Given the description of an element on the screen output the (x, y) to click on. 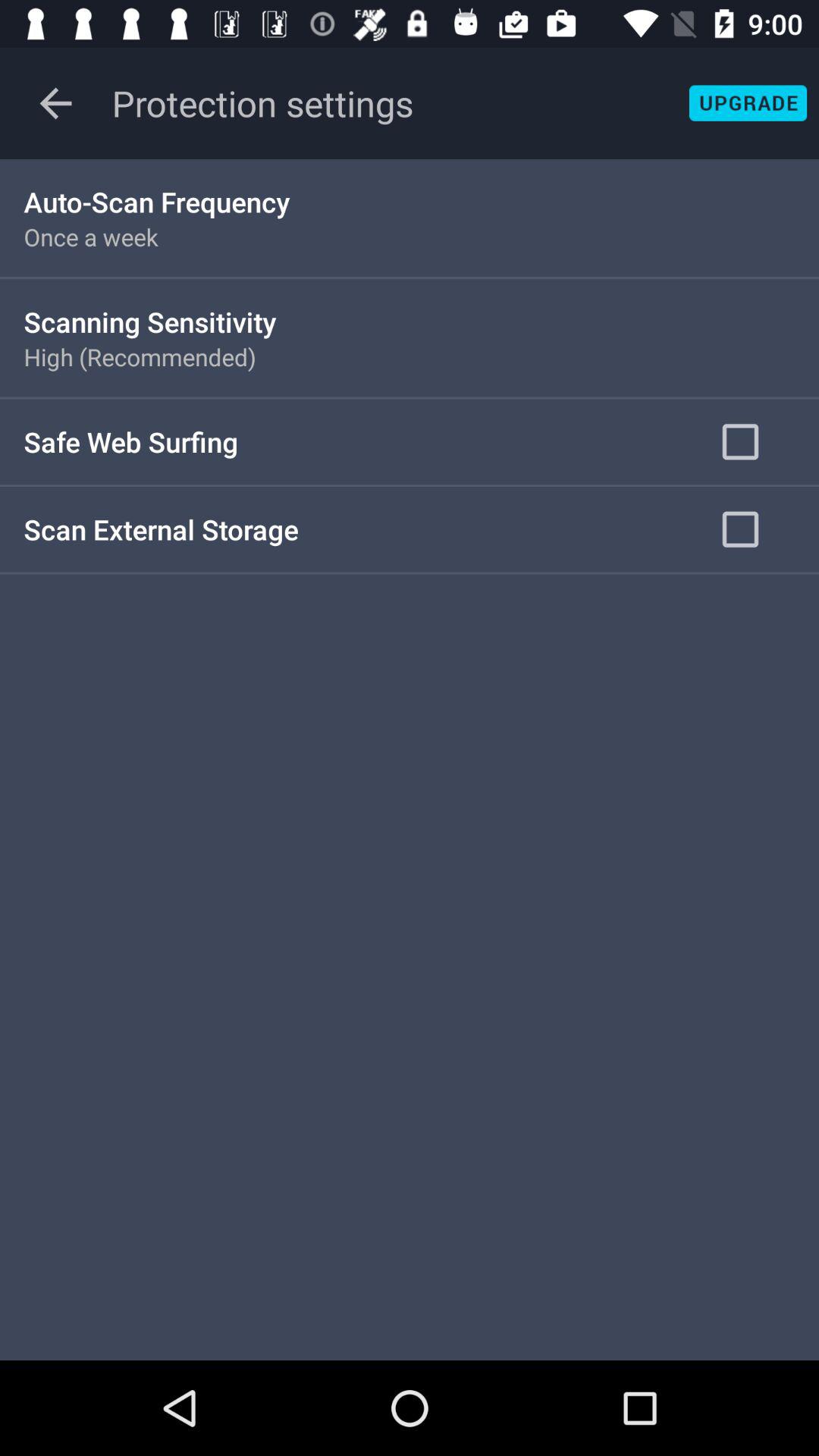
go back go to previous (55, 103)
